Given the description of an element on the screen output the (x, y) to click on. 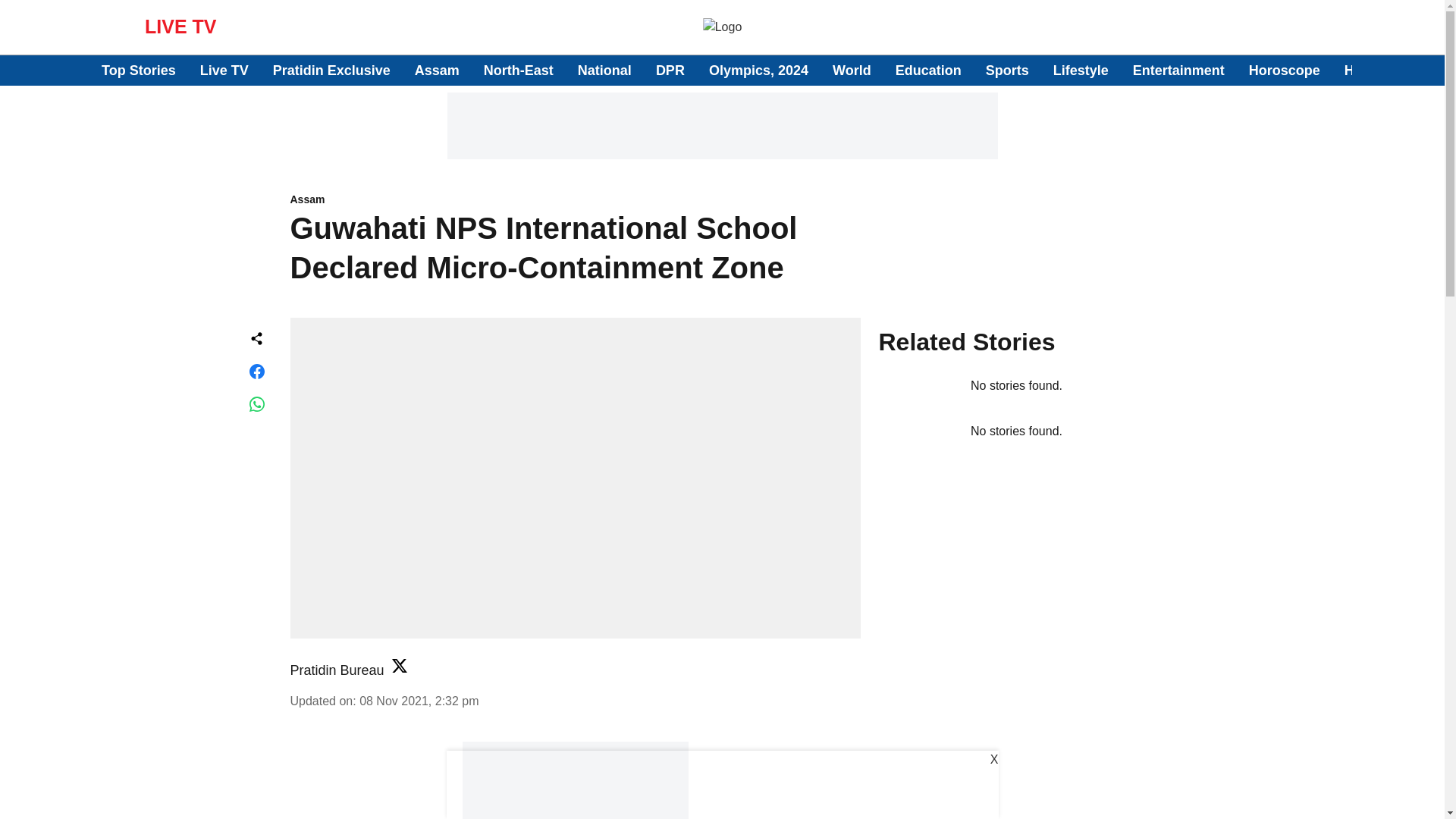
Sports (1007, 70)
Assam (437, 70)
Live TV (224, 70)
DPR (670, 70)
Health (1364, 70)
Entertainment (1178, 70)
Top Stories (138, 70)
Horoscope (1284, 70)
Lifestyle (1080, 70)
World (851, 70)
Pratidin Exclusive (331, 70)
LIVE TV (179, 25)
Olympics, 2024 (758, 70)
North-East (518, 70)
